Given the description of an element on the screen output the (x, y) to click on. 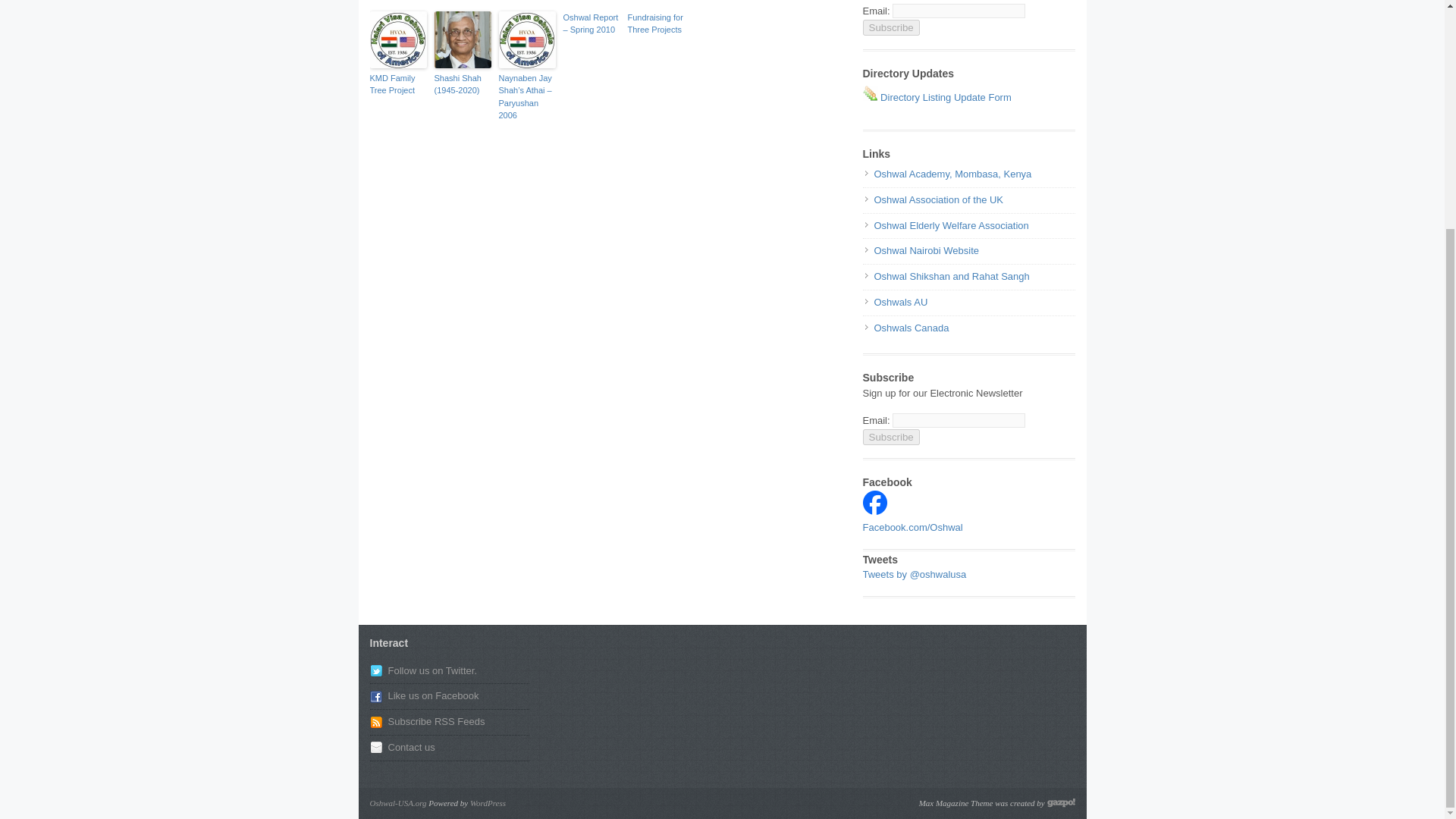
Subscribe (891, 27)
KMD Family Tree Project (397, 84)
Oshwal Shikshan and Rahat Sangh (951, 276)
Oshwals AU (900, 301)
Subscribe (891, 27)
Oshwals Canada (911, 327)
Contact us (411, 747)
Oshwals Australia (900, 301)
Oshwal Association of the UK (938, 199)
Follow us on twitter (432, 670)
Halari Visa Oshwals of America (874, 511)
Oshwal Elderly Welfare Association (950, 225)
Fundraising for Three Projects (655, 23)
Subscribe (891, 437)
Oshwal-USA.org (397, 802)
